Given the description of an element on the screen output the (x, y) to click on. 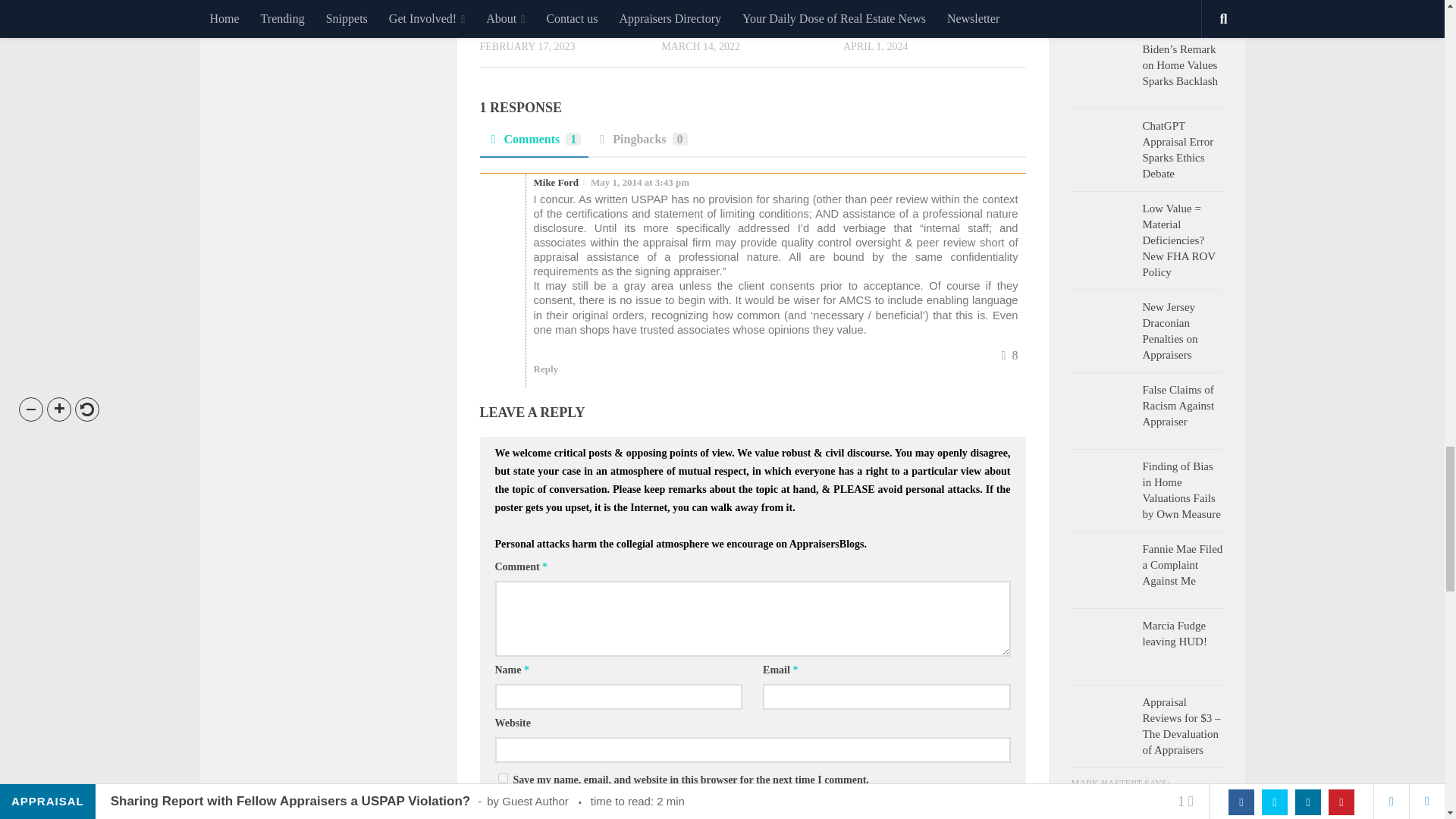
1 (501, 816)
yes (501, 777)
